Given the description of an element on the screen output the (x, y) to click on. 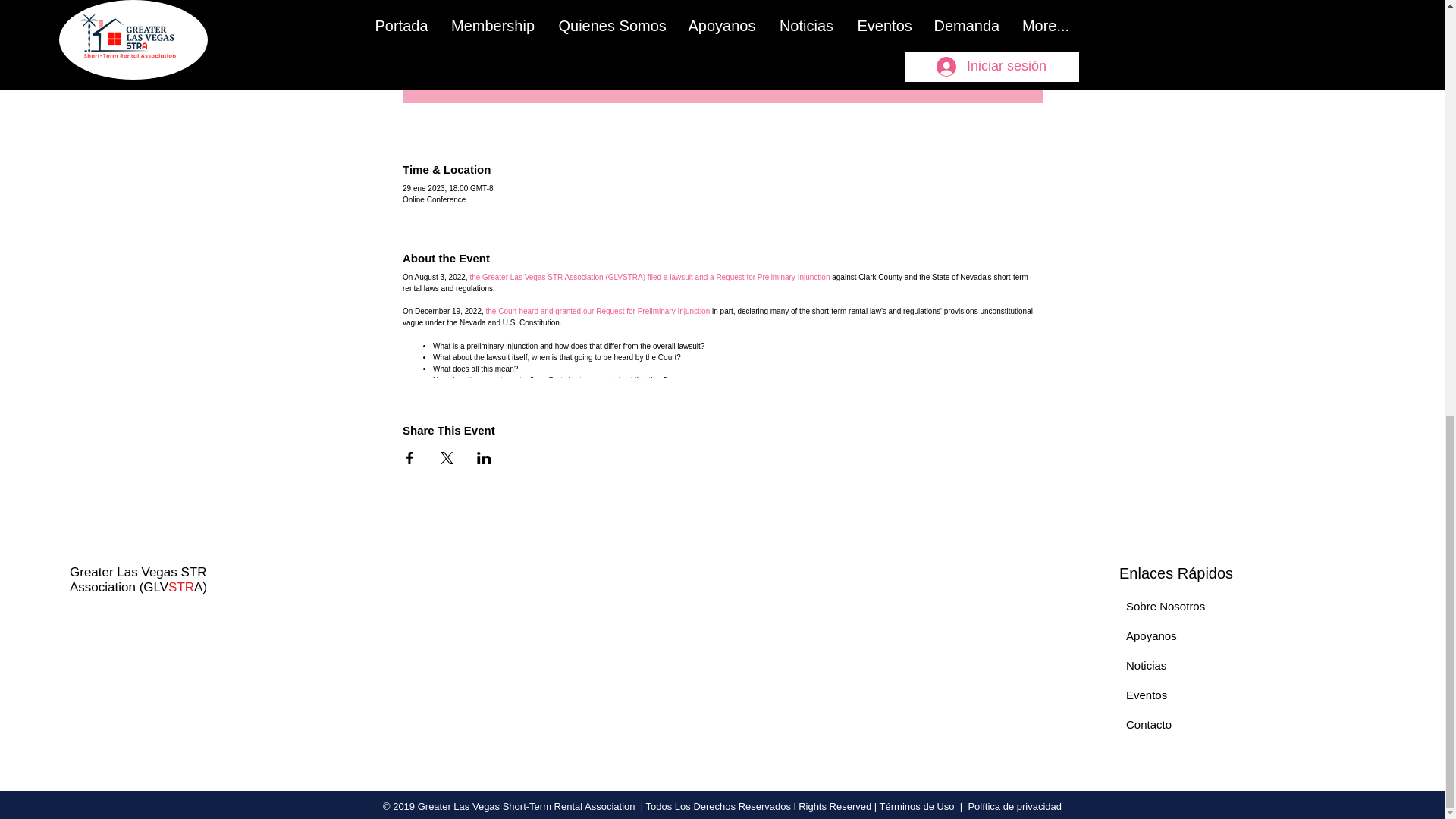
Sobre Nosotros (1165, 605)
Apoyanos (1150, 635)
Eventos (1146, 694)
Contacto (1148, 724)
Noticias (1145, 665)
